Given the description of an element on the screen output the (x, y) to click on. 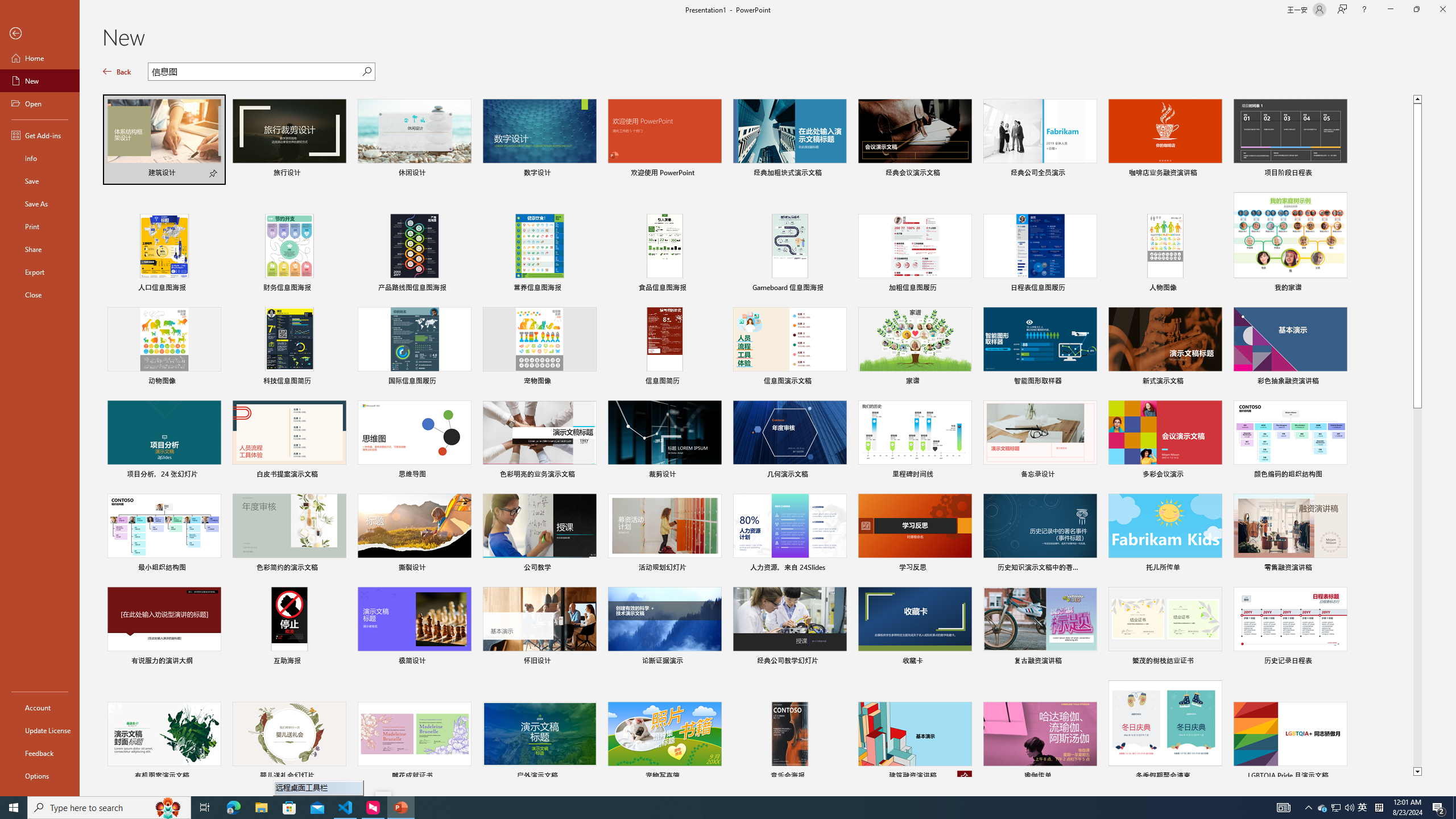
New (40, 80)
Account (40, 707)
Search for online templates and themes (254, 73)
